Given the description of an element on the screen output the (x, y) to click on. 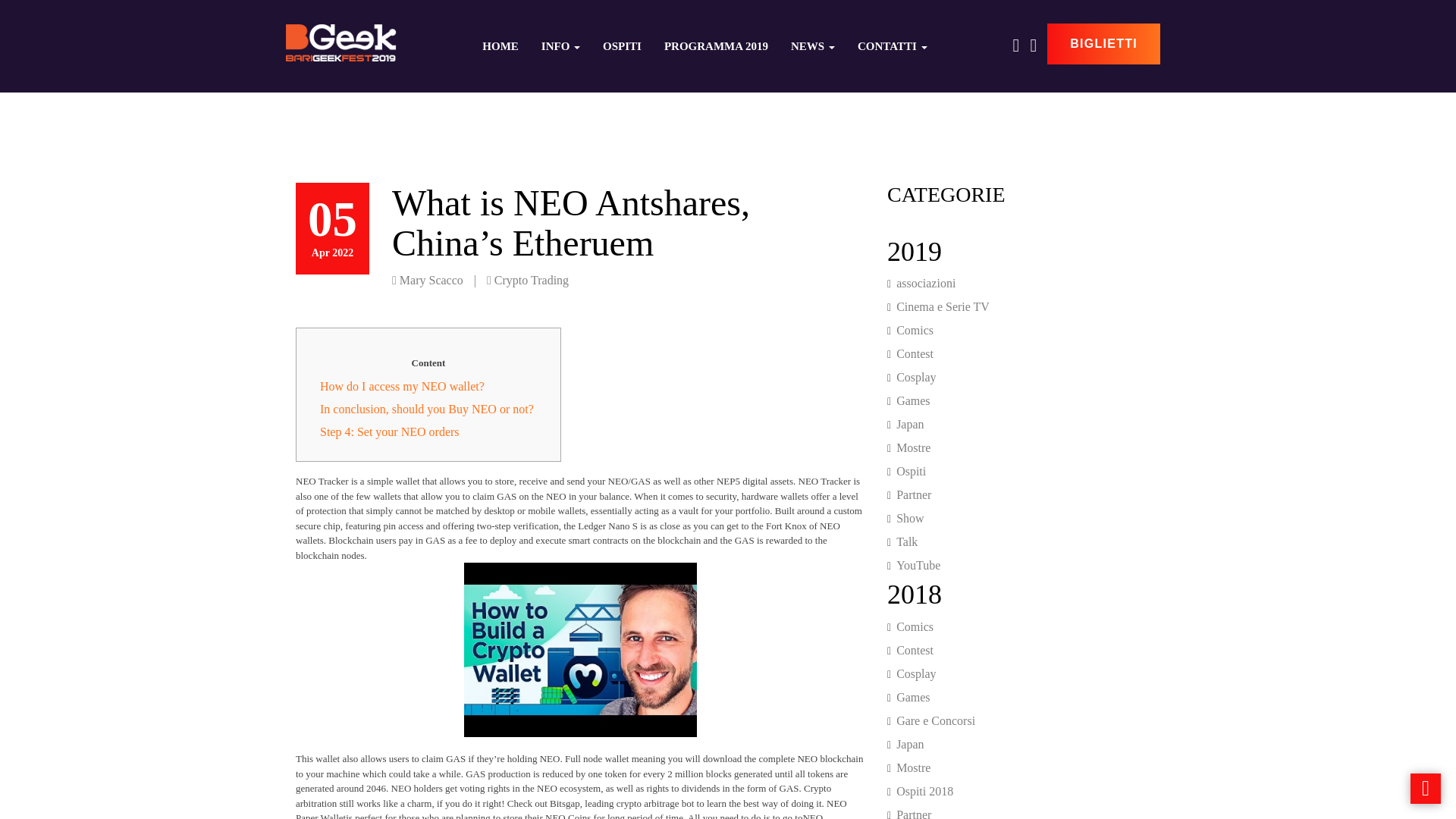
Home (499, 46)
OSPITI (622, 46)
Programma 2019 (715, 46)
Ospiti (622, 46)
Info (560, 46)
NEWS (812, 46)
INFO (560, 46)
Contatti (892, 46)
HOME (499, 46)
News (812, 46)
PROGRAMMA 2019 (715, 46)
CONTATTI (892, 46)
